Given the description of an element on the screen output the (x, y) to click on. 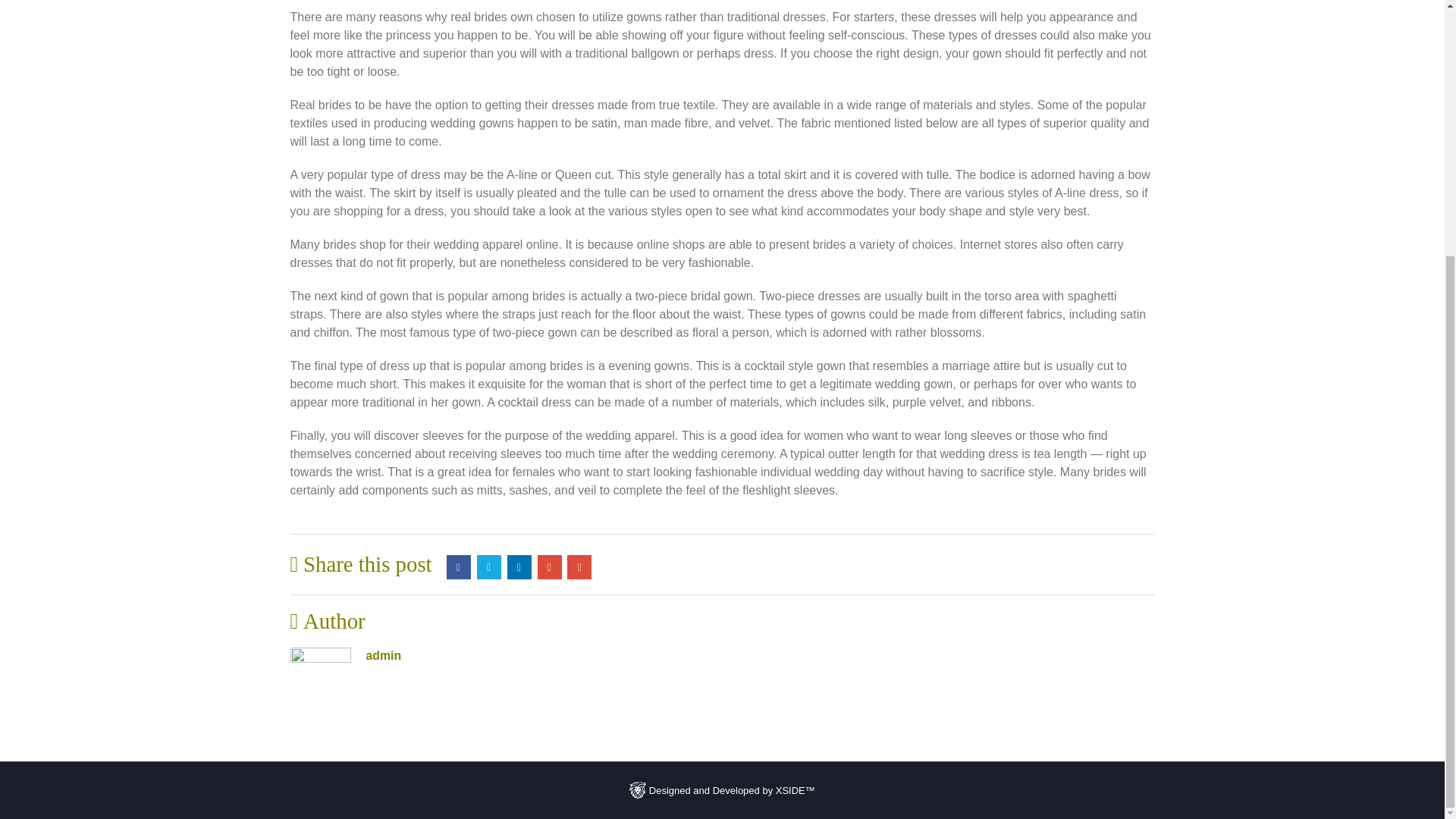
www.xside.ee (721, 789)
Twitter (488, 567)
LinkedIn (518, 567)
Facebook (458, 567)
admin (383, 655)
Email (579, 567)
www.xside.ee (637, 790)
